Given the description of an element on the screen output the (x, y) to click on. 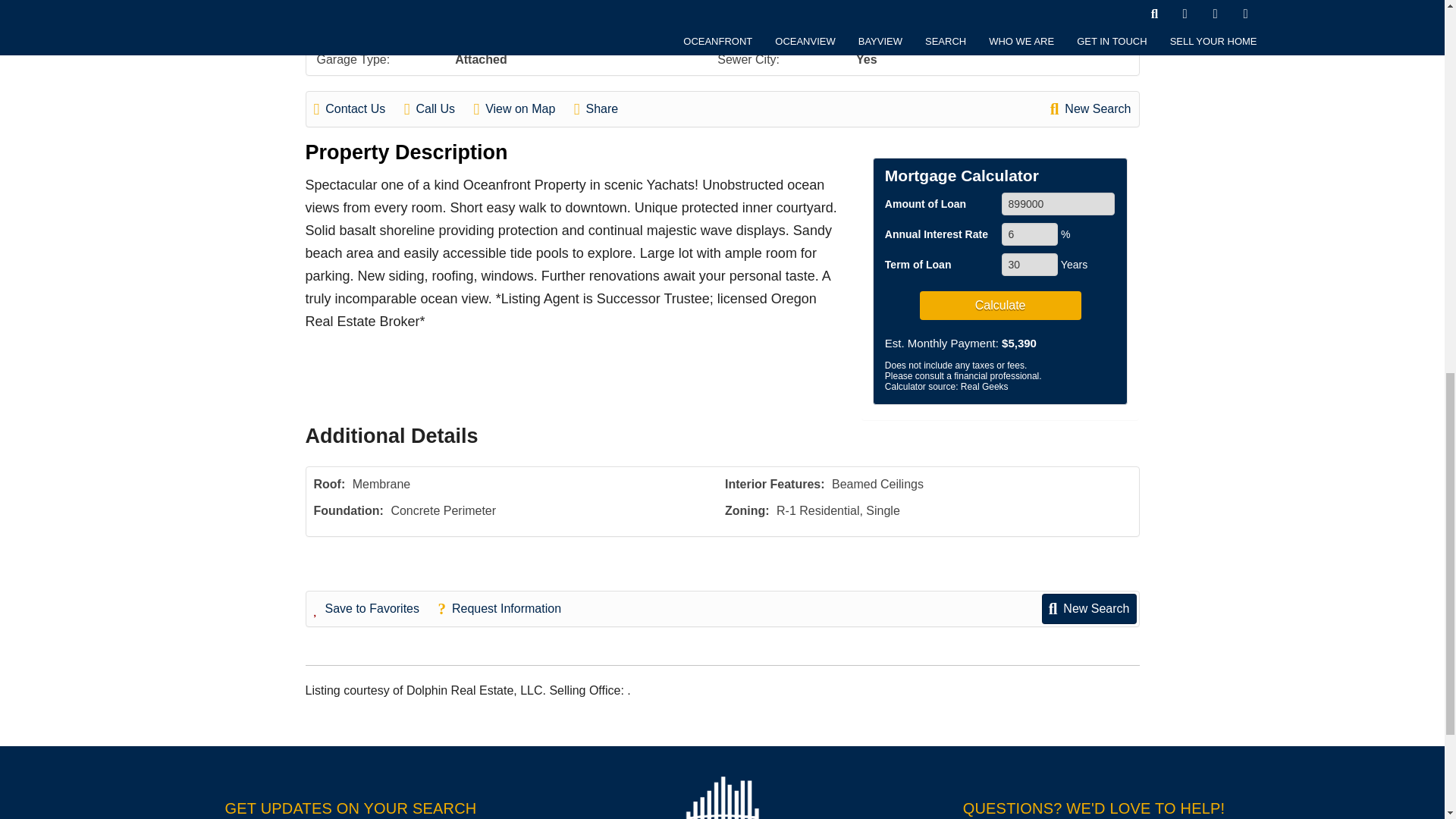
View on Map (521, 108)
30 (1029, 264)
6 (1029, 233)
Call Us (437, 108)
Contact Us (357, 108)
Share (603, 108)
New Search (1090, 108)
899000 (1058, 203)
